Given the description of an element on the screen output the (x, y) to click on. 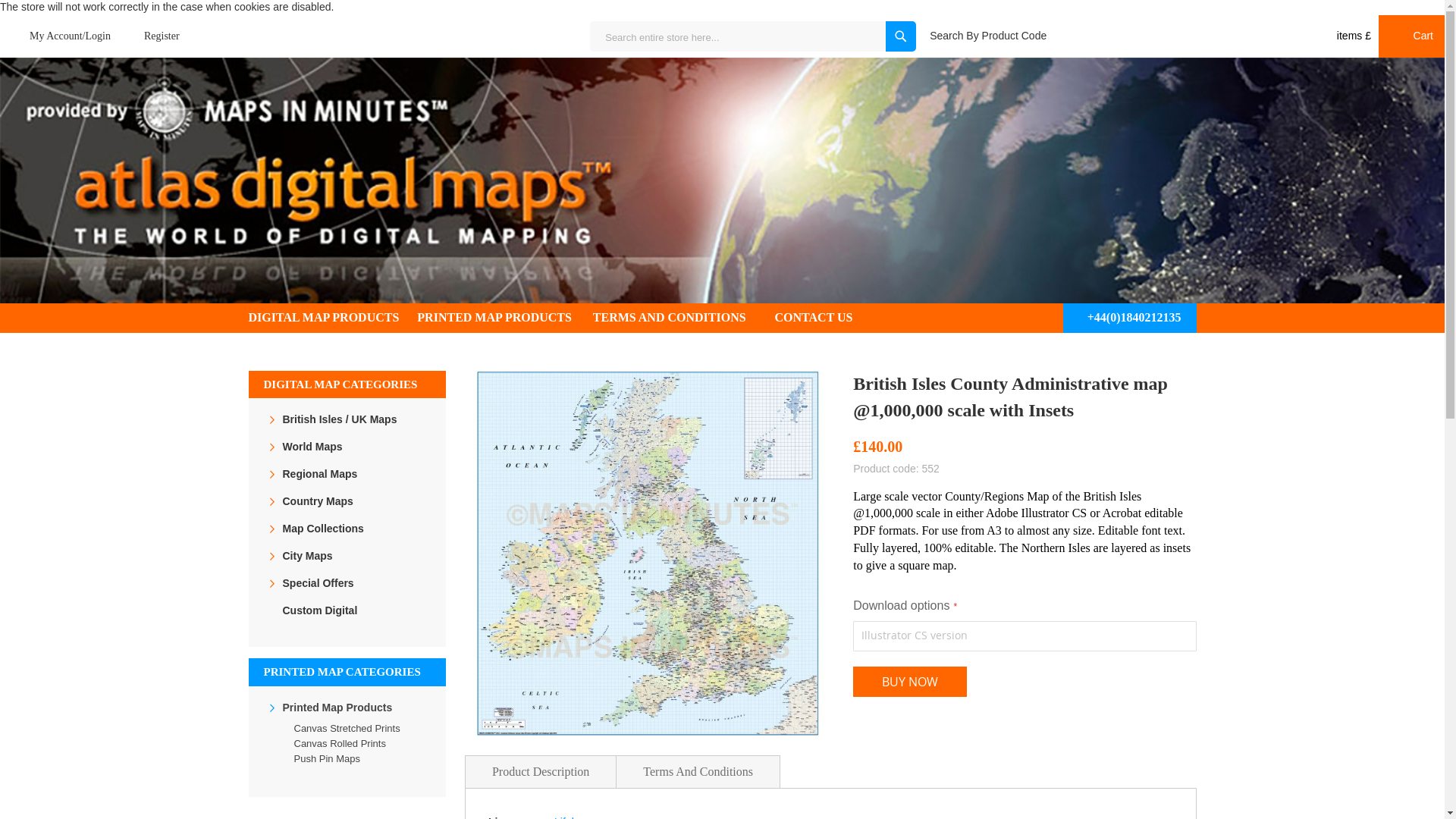
Search (900, 36)
Register (152, 35)
DIGITAL MAP PRODUCTS (332, 317)
Search (900, 36)
Buy Now (909, 681)
Search By Product Code (988, 35)
